Given the description of an element on the screen output the (x, y) to click on. 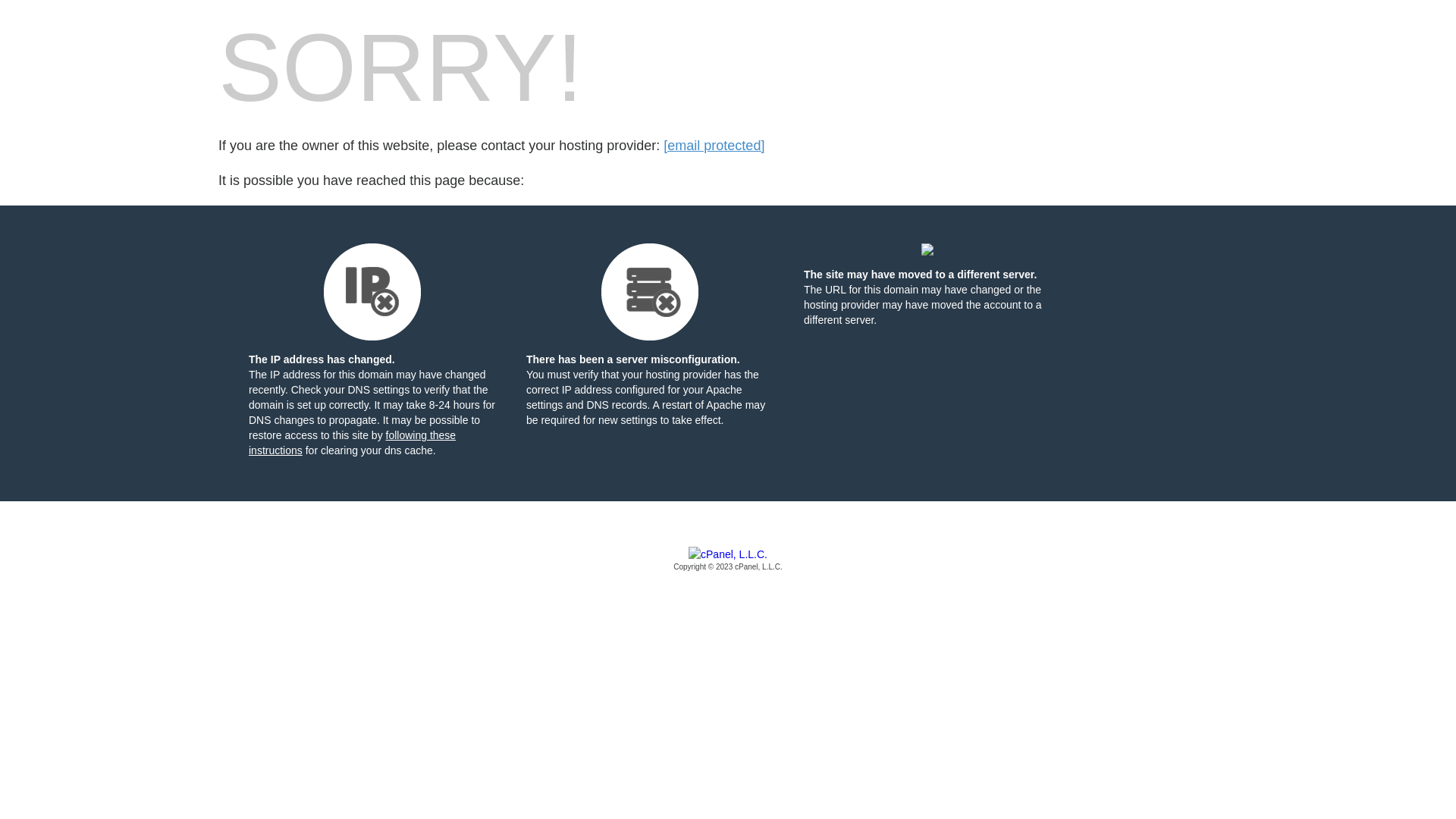
following these instructions Element type: text (351, 442)
[email protected] Element type: text (713, 145)
